Given the description of an element on the screen output the (x, y) to click on. 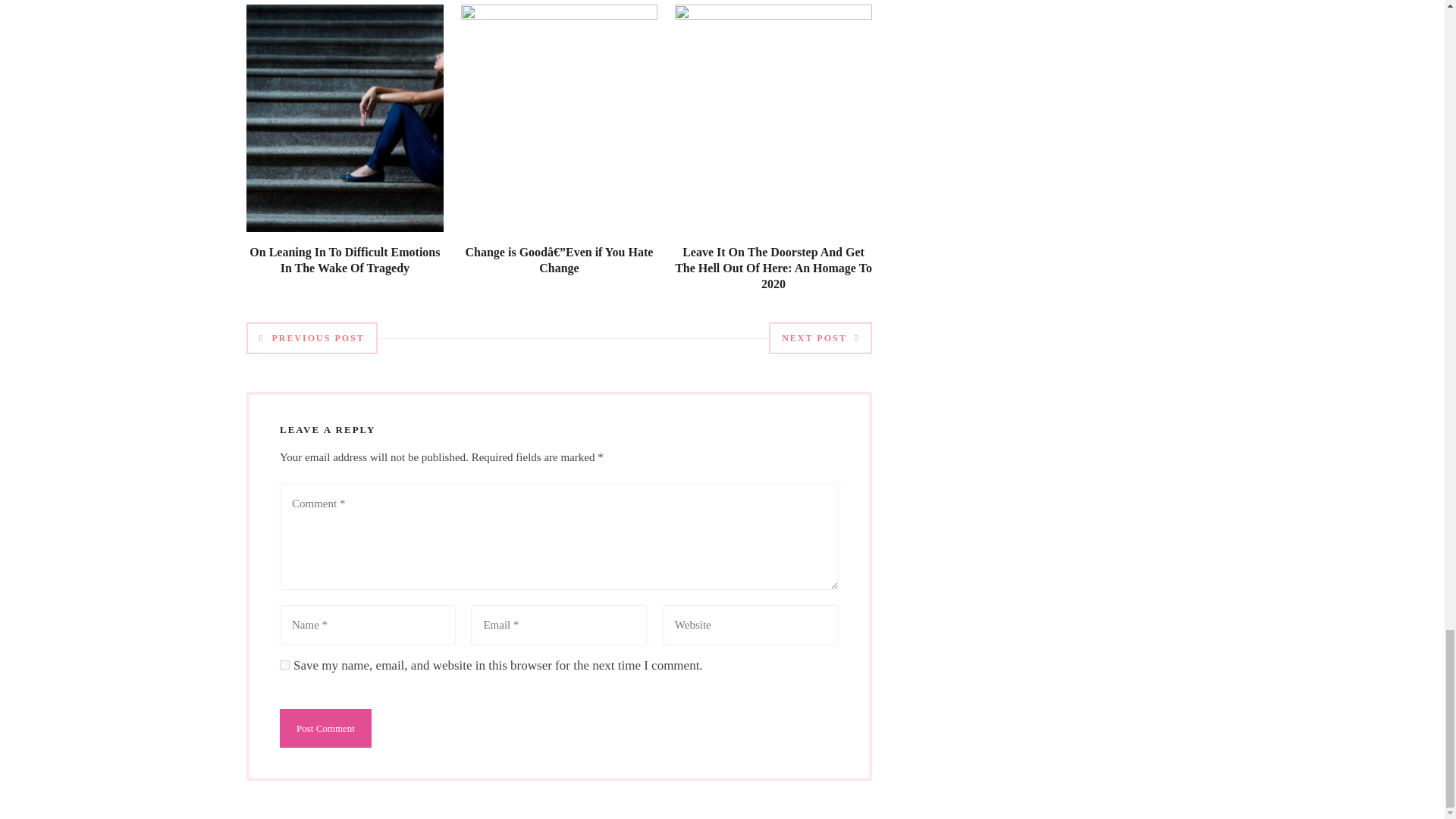
yes (284, 664)
On Leaning In To Difficult Emotions In The Wake Of Tragedy (343, 259)
Post Comment (325, 728)
